Given the description of an element on the screen output the (x, y) to click on. 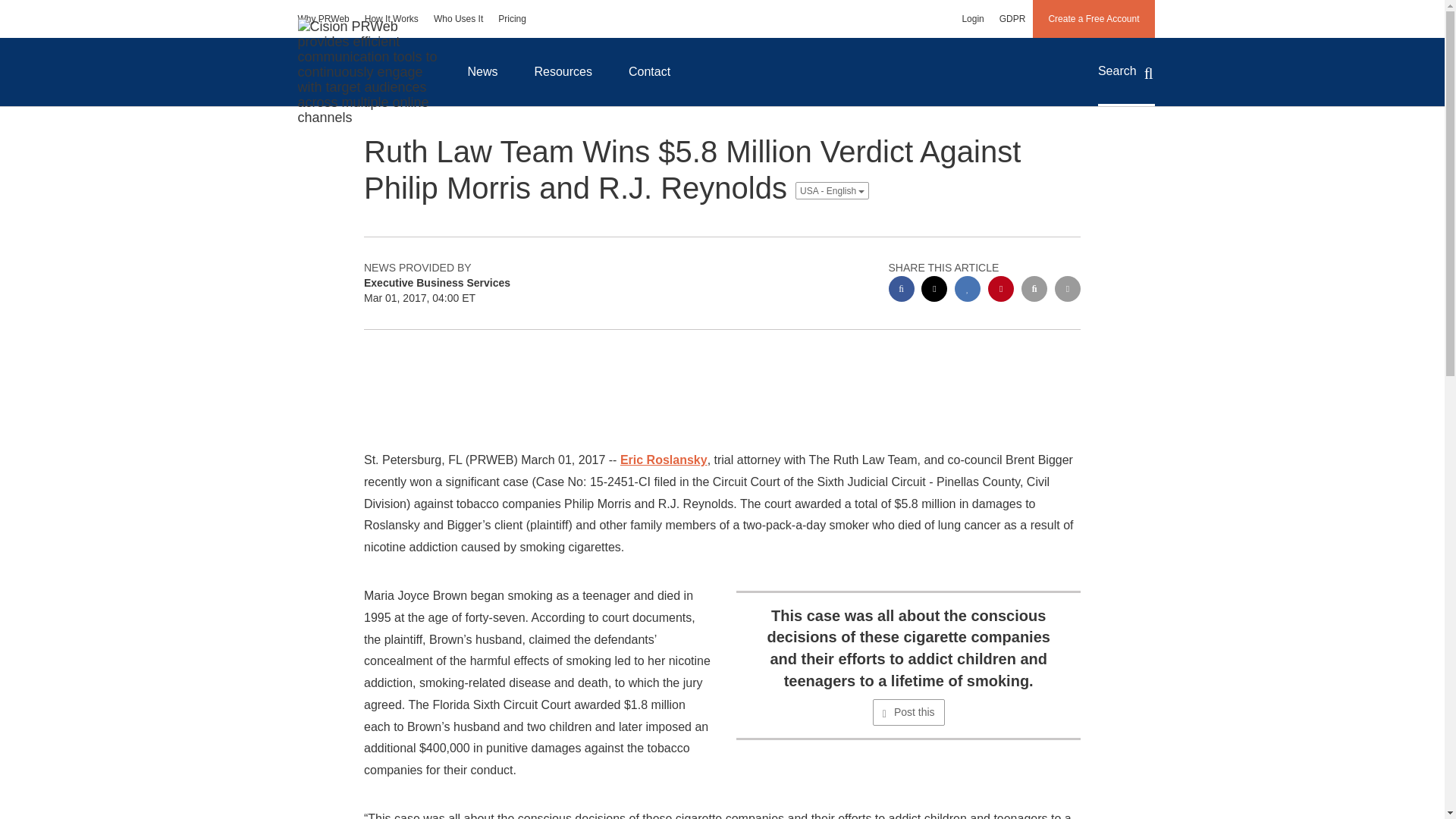
Contact (649, 71)
GDPR (1012, 18)
How It Works (391, 18)
Who Uses It (458, 18)
News (481, 71)
Create a Free Account (1093, 18)
Eric Roslansky (663, 459)
Pricing (512, 18)
Why PRWeb (322, 18)
